Given the description of an element on the screen output the (x, y) to click on. 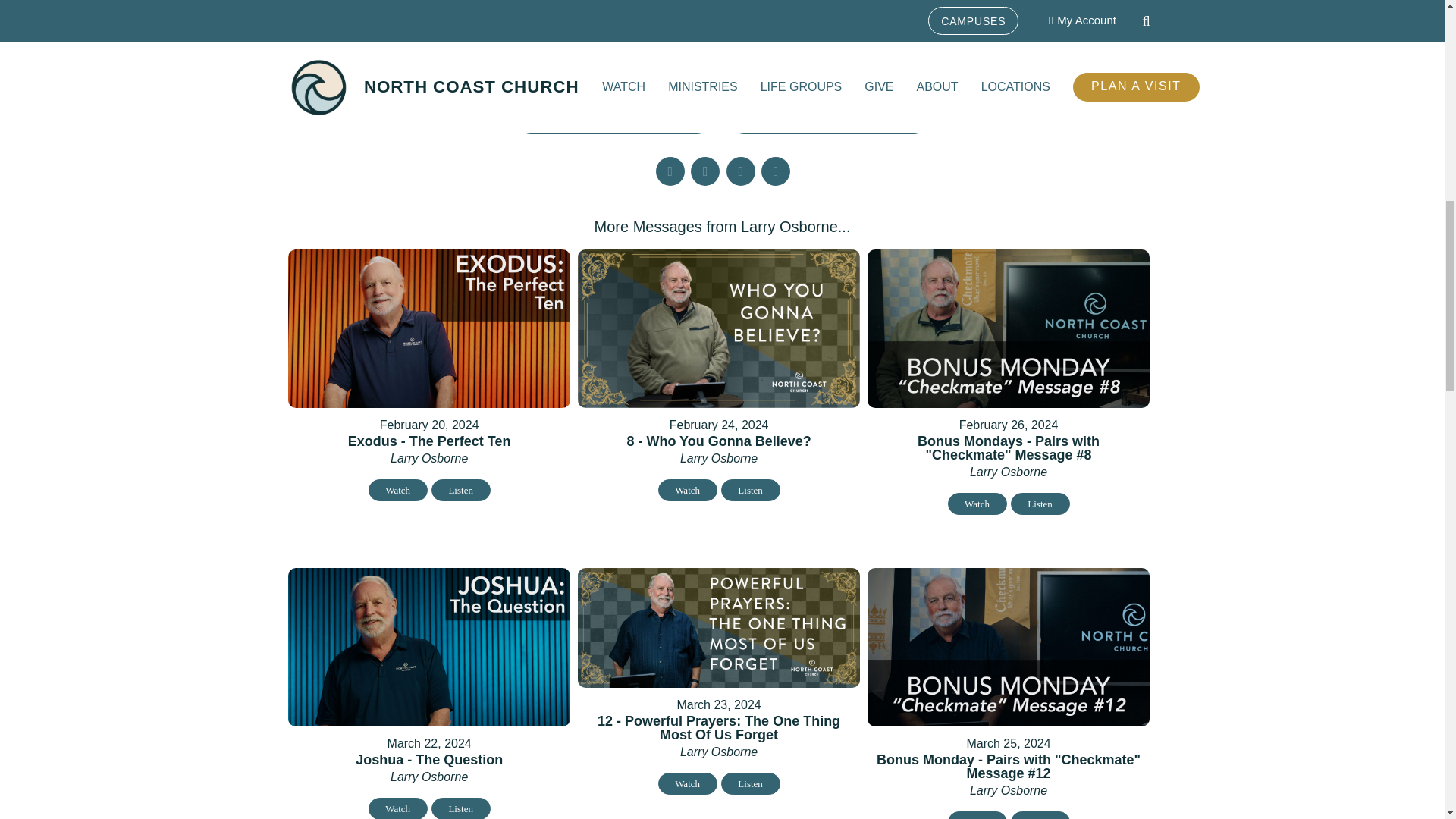
Back to top (1413, 26)
